Given the description of an element on the screen output the (x, y) to click on. 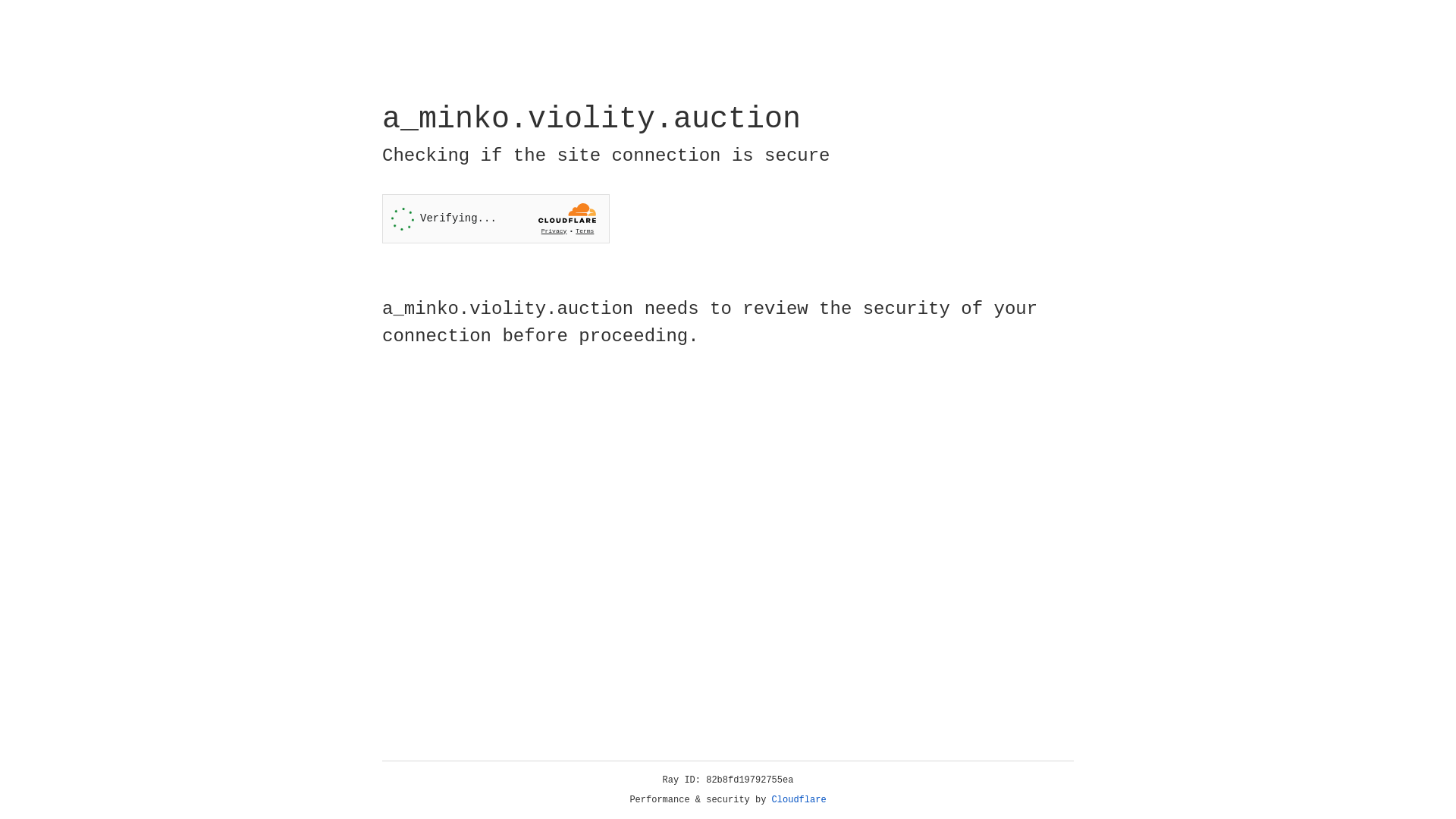
Widget containing a Cloudflare security challenge Element type: hover (495, 218)
Cloudflare Element type: text (798, 799)
